Given the description of an element on the screen output the (x, y) to click on. 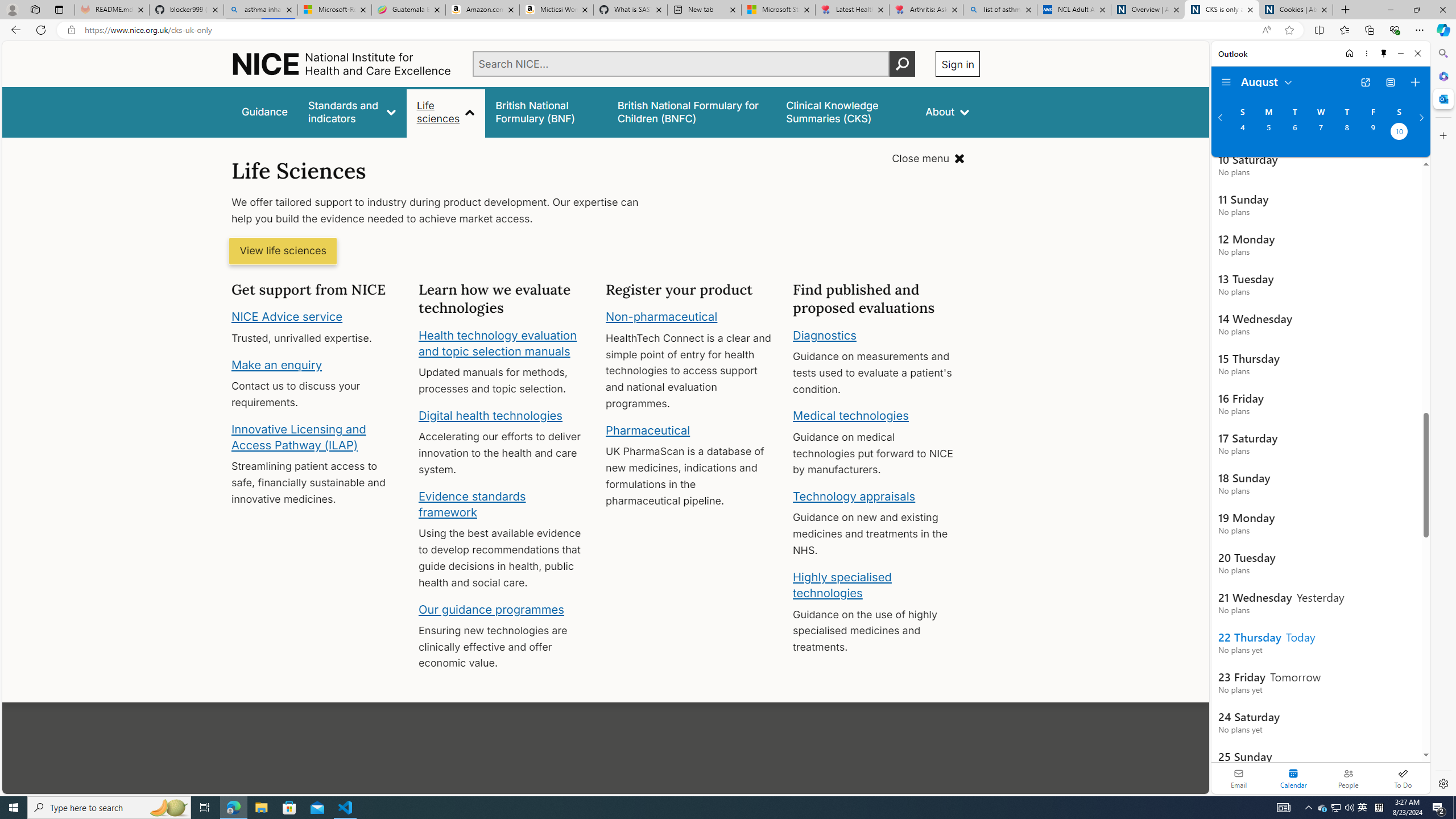
Sunday, August 4, 2024.  (1242, 132)
Email (1238, 777)
Highly specialised technologies (842, 584)
NICE Advice service (287, 316)
View life sciences (282, 251)
